Given the description of an element on the screen output the (x, y) to click on. 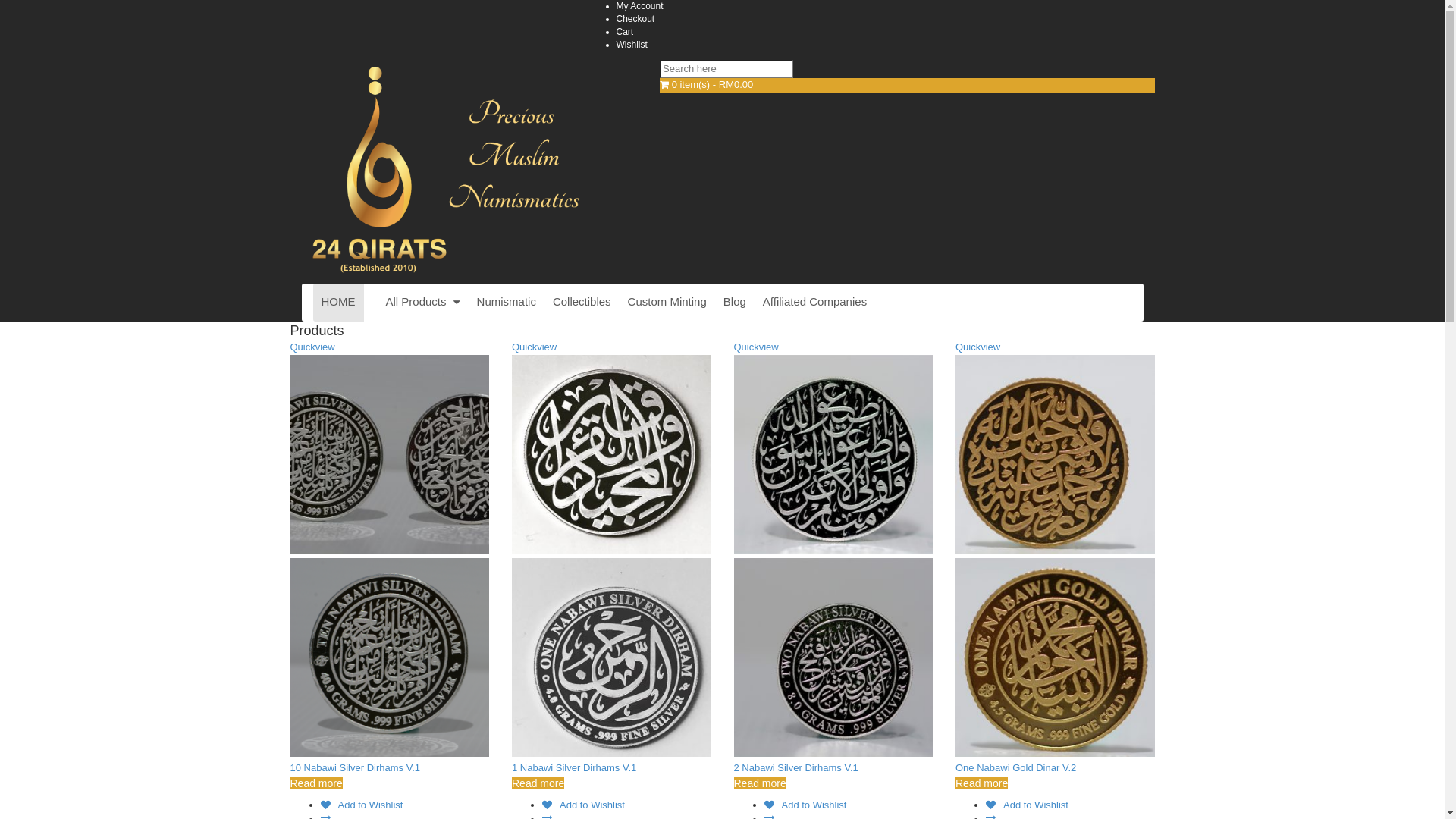
Checkout Element type: text (634, 18)
Add to Wishlist Element type: text (583, 804)
Cart Element type: text (624, 31)
Read more Element type: text (537, 783)
Quickview Element type: text (533, 346)
Custom Minting Element type: text (667, 302)
Read more Element type: text (981, 783)
One Nabawi Gold Dinar V.2 Element type: text (1015, 767)
Affiliated Companies Element type: text (814, 302)
Collectibles Element type: text (581, 302)
Add to Wishlist Element type: text (361, 804)
Blog Element type: text (734, 302)
24qirats - Precious Muslim Numismatics Element type: hover (463, 275)
10 Nabawi Silver Dirhams V.1 Element type: text (354, 767)
My Account Element type: text (638, 5)
All Products Element type: text (422, 302)
HOME Element type: text (337, 302)
Read more Element type: text (760, 783)
Quickview Element type: text (311, 346)
1 Nabawi Silver Dirhams V.1 Element type: text (573, 767)
Wishlist Element type: text (630, 44)
2 Nabawi Silver Dirhams V.1 Element type: text (796, 767)
Quickview Element type: text (977, 346)
Read more Element type: text (315, 783)
Quickview Element type: text (756, 346)
0 item(s) - RM0.00 Element type: text (906, 85)
Add to Wishlist Element type: text (1026, 804)
Add to Wishlist Element type: text (805, 804)
Numismatic Element type: text (506, 302)
